Given the description of an element on the screen output the (x, y) to click on. 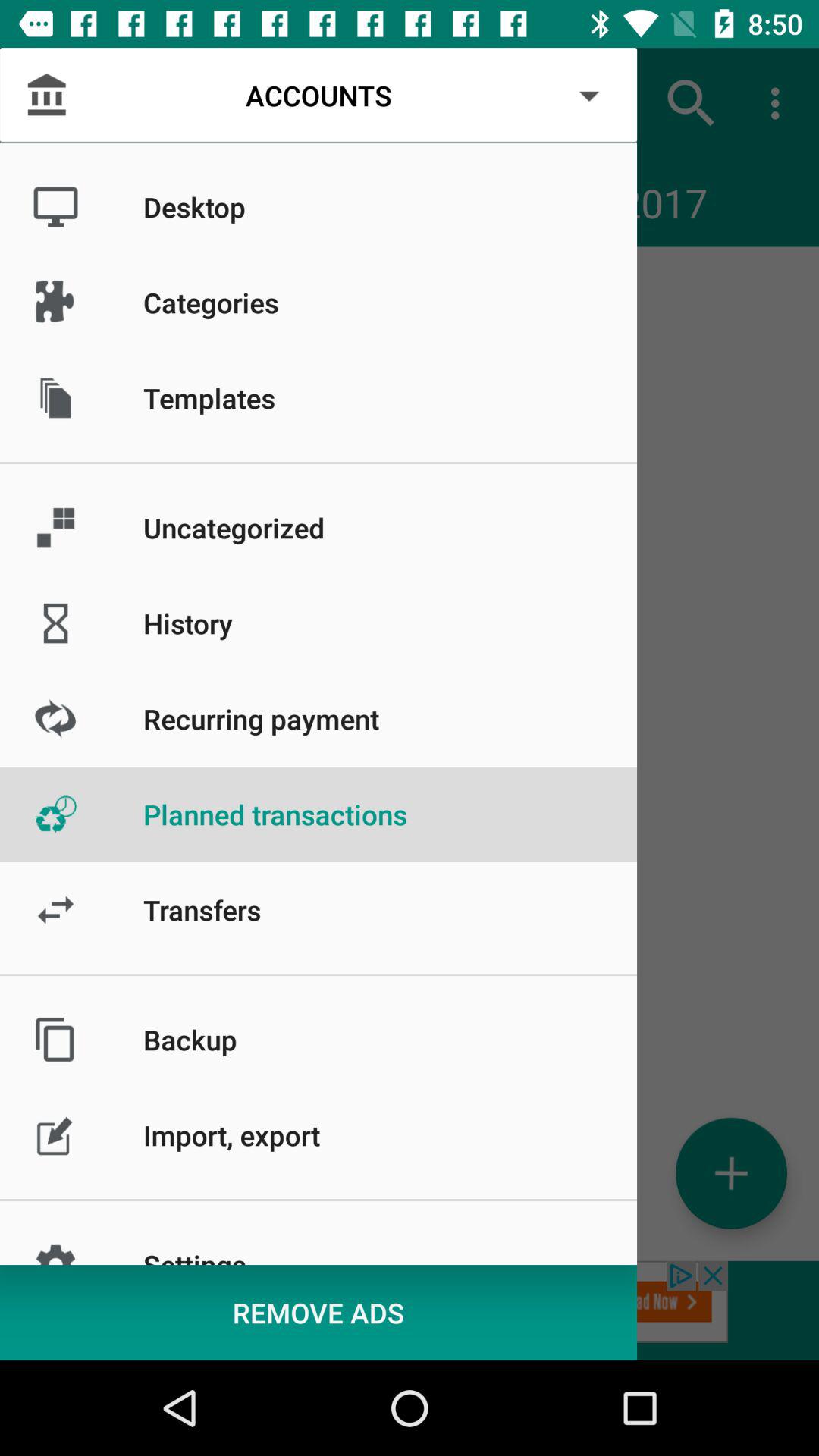
turn off the item next to the planned transations item (55, 103)
